Given the description of an element on the screen output the (x, y) to click on. 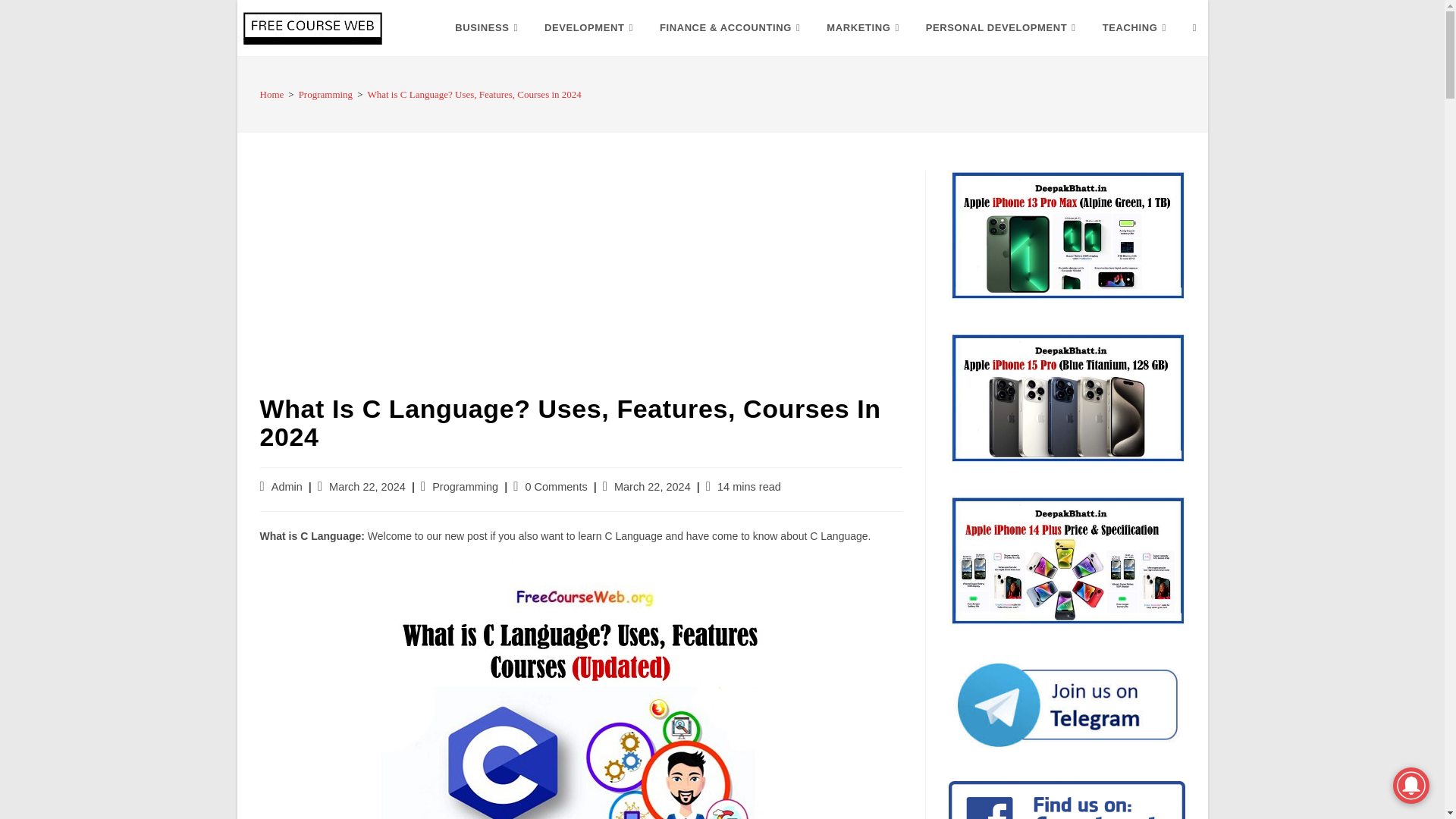
What is C Language? Uses, Features, Courses in 2024 (580, 690)
DEVELOPMENT (589, 28)
Posts by Admin (286, 486)
MARKETING (864, 28)
BUSINESS (488, 28)
